Given the description of an element on the screen output the (x, y) to click on. 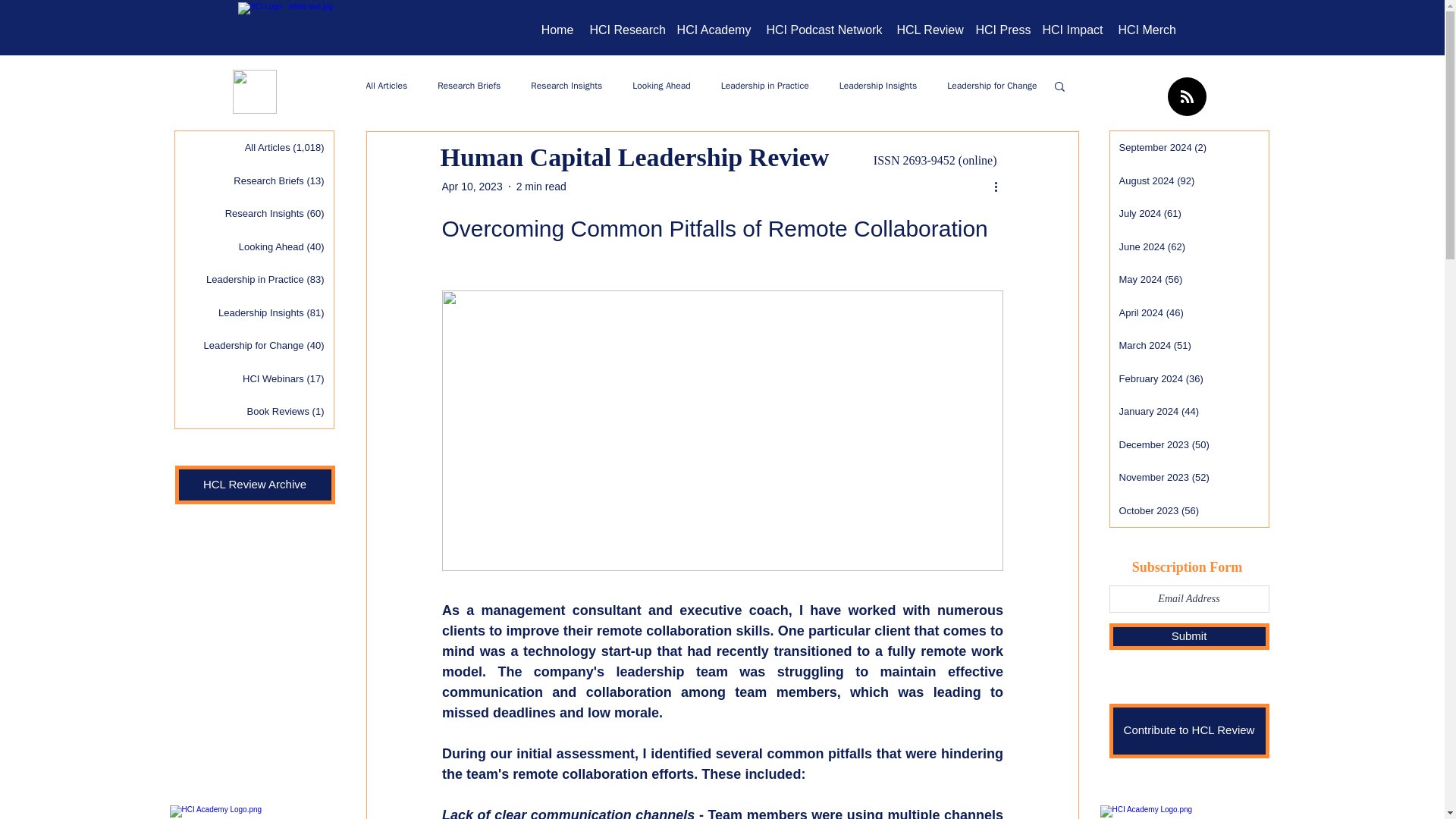
2 min read (541, 186)
HCI Podcast Network (823, 29)
HCL Review (928, 29)
Apr 10, 2023 (471, 186)
HCI Academy (713, 29)
HCI Press (1000, 29)
HCI Research (625, 29)
HCL Review.png (253, 91)
Home (556, 29)
HCI Merch (1145, 29)
